Given the description of an element on the screen output the (x, y) to click on. 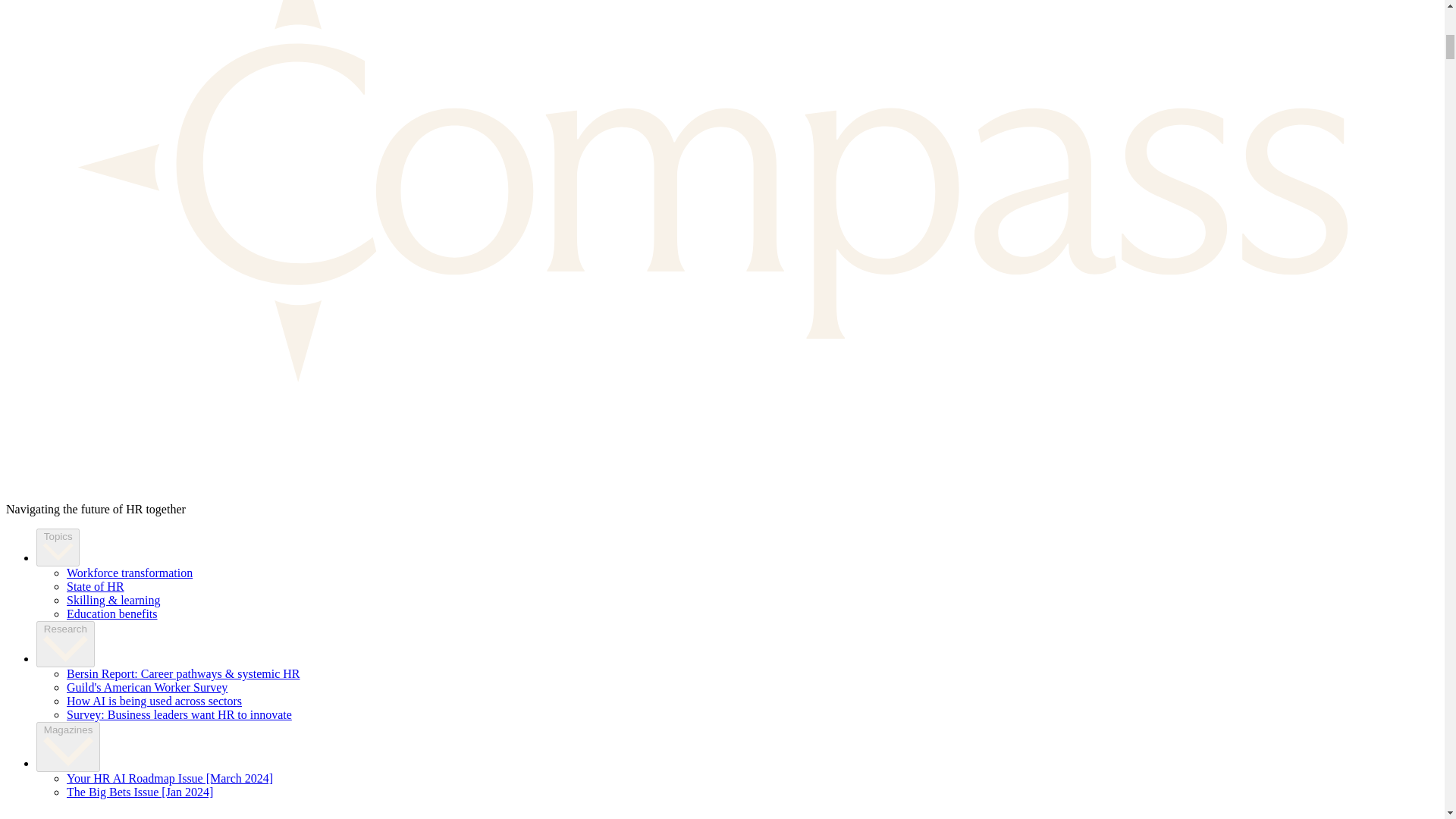
Education benefits (111, 613)
How AI is being used across sectors (153, 700)
Workforce transformation (129, 572)
Guild's American Worker Survey (146, 686)
Survey: Business leaders want HR to innovate (179, 714)
State of HR (94, 585)
